Given the description of an element on the screen output the (x, y) to click on. 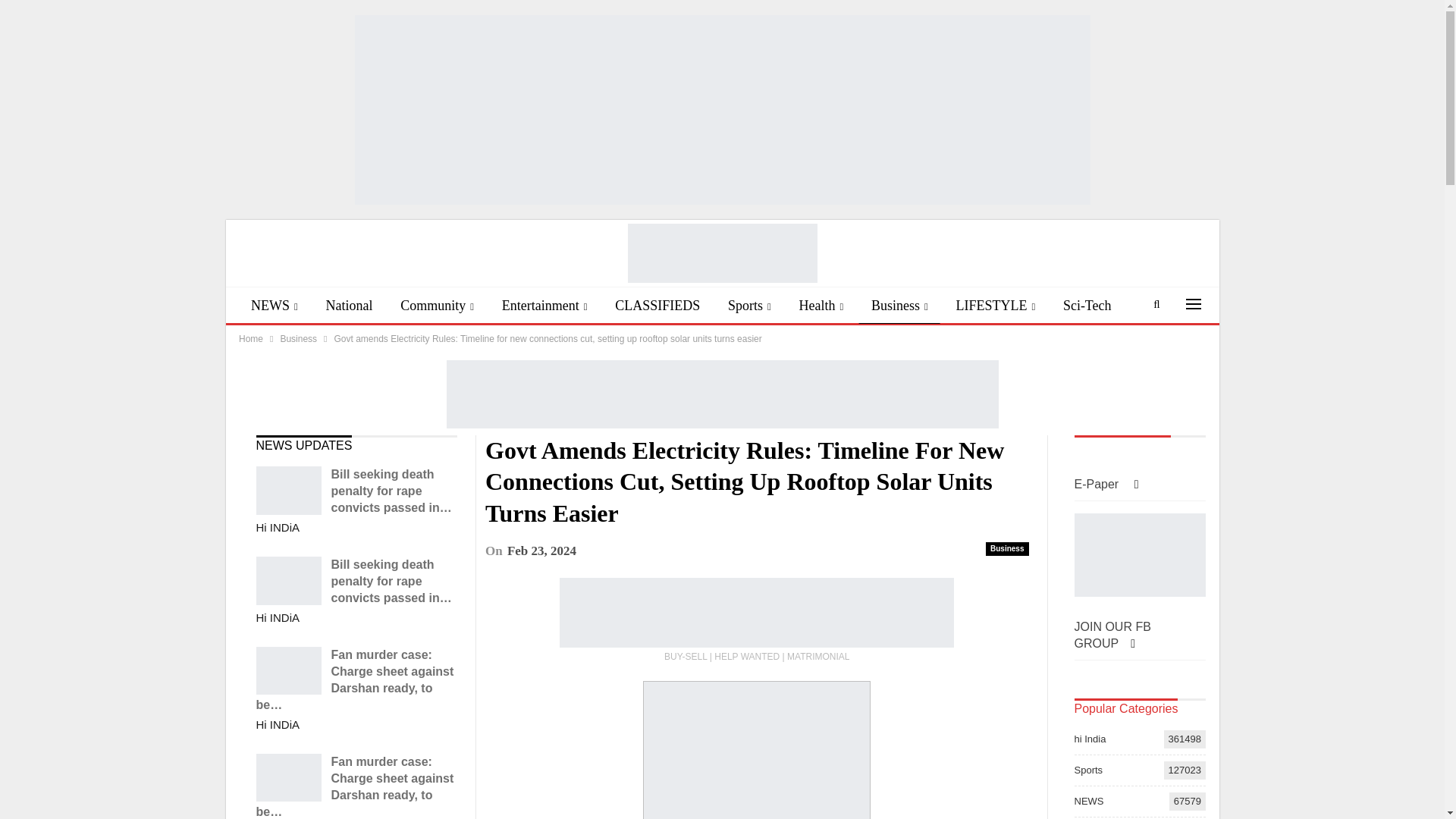
Browse Author Articles (277, 617)
Browse Author Articles (277, 725)
Browse Author Articles (277, 527)
